Given the description of an element on the screen output the (x, y) to click on. 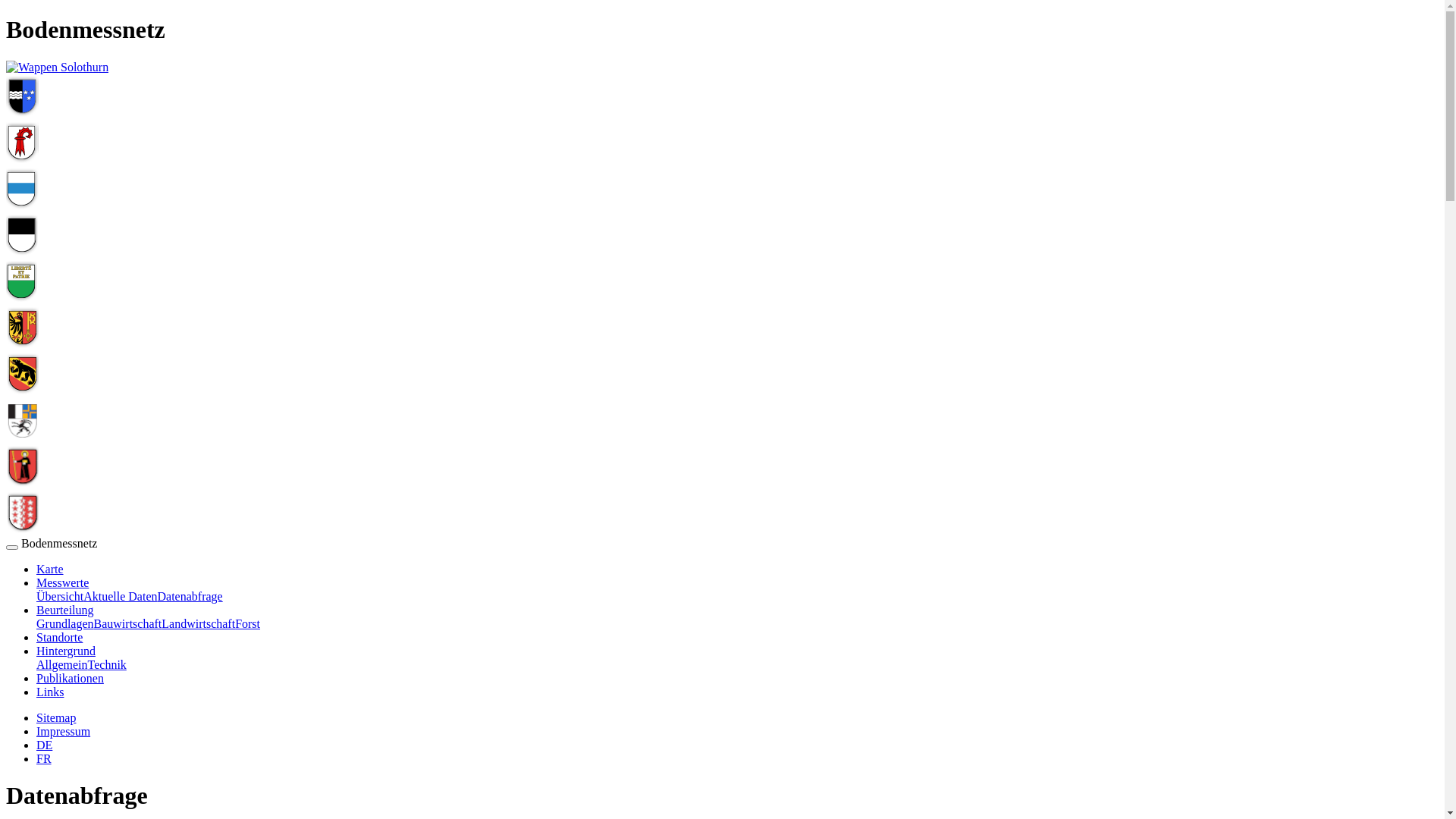
Aktuelle Daten Element type: text (119, 595)
DE Element type: text (44, 744)
FR Element type: text (43, 758)
Kanton Bern Element type: hover (22, 390)
Technik Element type: text (106, 664)
Kanton Waadt Element type: hover (22, 297)
Forst Element type: text (247, 623)
Datenabfrage Element type: text (189, 595)
Publikationen Element type: text (69, 677)
Grundlagen Element type: text (65, 623)
Kanton Fribourg Element type: hover (22, 251)
Karte Element type: text (49, 568)
Kanton Glarus Element type: hover (22, 482)
Allgemein Element type: text (61, 664)
Kanton Wallis Element type: hover (22, 529)
Links Element type: text (49, 691)
Kanton Genf Element type: hover (22, 344)
Hintergrund Element type: text (65, 650)
Beurteilung Element type: text (65, 609)
Kanton Baselland Element type: hover (22, 159)
Impressum Element type: text (63, 730)
Kanton Zug Element type: hover (23, 205)
Kanton Aargau Element type: hover (22, 112)
Sitemap Element type: text (55, 717)
Messwerte Element type: text (62, 582)
Bauwirtschaft Element type: text (128, 623)
Kanton Solothurn Element type: hover (57, 66)
Landwirtschaft Element type: text (198, 623)
Standorte Element type: text (59, 636)
